Given the description of an element on the screen output the (x, y) to click on. 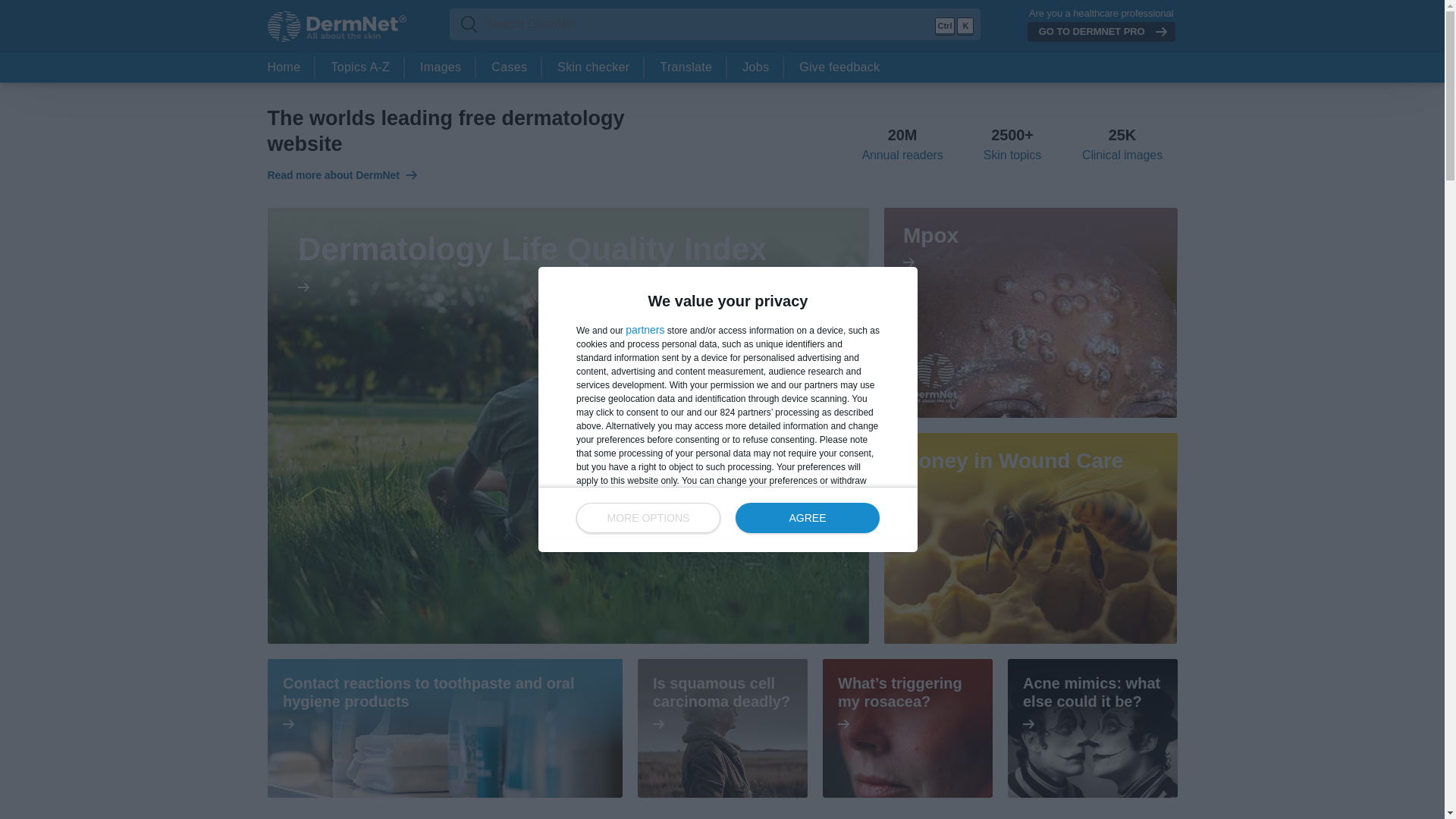
Home (283, 67)
Skin checker (593, 67)
DermNet (336, 26)
Topics A-Z (359, 67)
GO TO DERMNET PRO (1100, 31)
Images (440, 67)
Read more about DermNet (341, 174)
partners (903, 145)
Give feedback (644, 329)
